Given the description of an element on the screen output the (x, y) to click on. 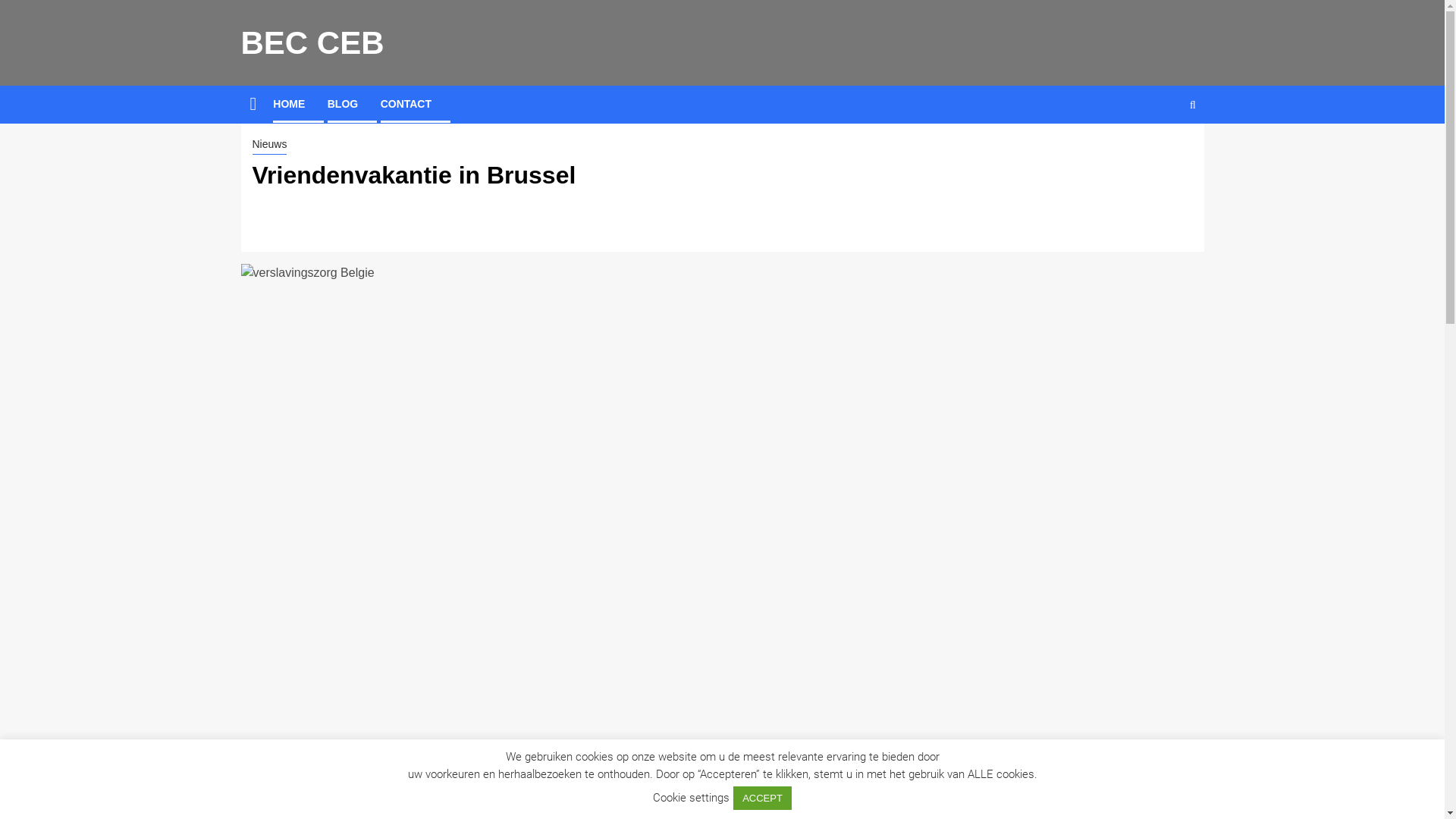
HOME Element type: text (288, 103)
ACCEPT Element type: text (762, 797)
Cookie settings Element type: text (690, 797)
BLOG Element type: text (342, 103)
Zoeken Element type: text (1163, 150)
Search Element type: hover (1192, 104)
CONTACT Element type: text (405, 103)
Nieuws Element type: text (268, 145)
BEC CEB Element type: text (312, 42)
